Given the description of an element on the screen output the (x, y) to click on. 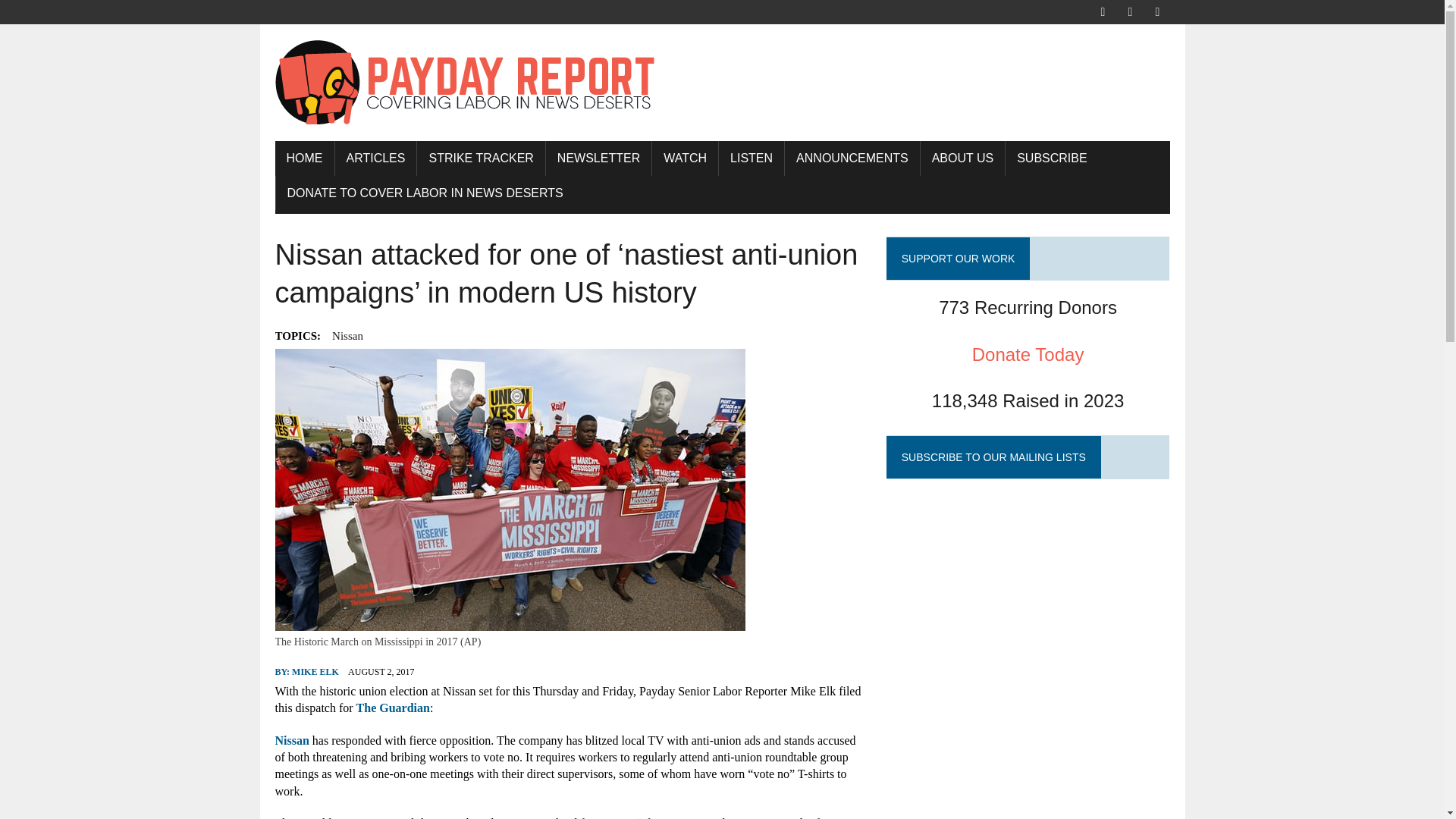
LISTEN (751, 158)
The Guardian (392, 707)
HOME (304, 158)
WATCH (684, 158)
ARTICLES (375, 158)
Donate Today (1028, 354)
SUBSCRIBE (1051, 158)
Nissan (346, 335)
Payday Report (722, 82)
Posts by Mike Elk (315, 671)
